Given the description of an element on the screen output the (x, y) to click on. 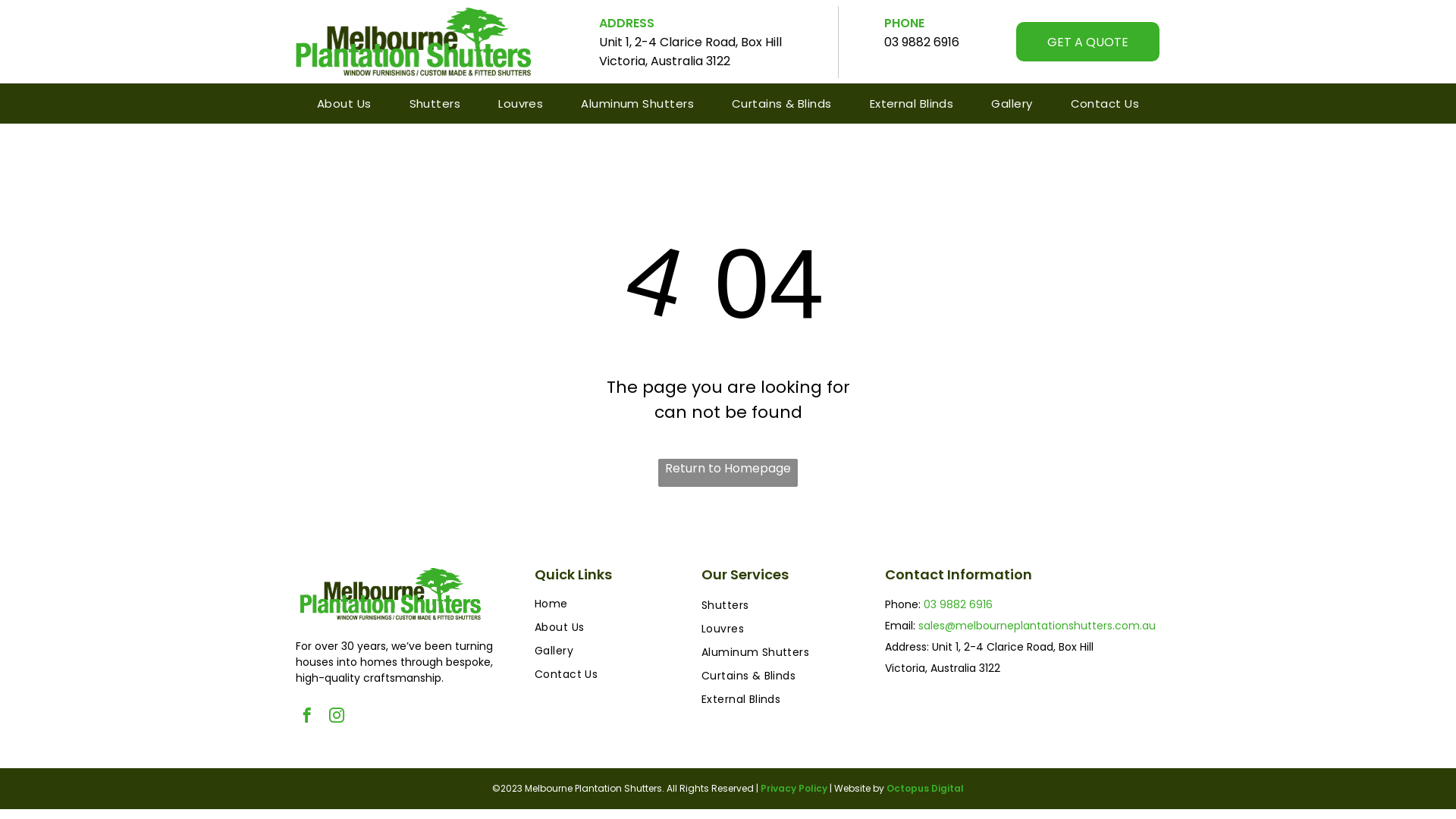
GET A QUOTE Element type: text (1087, 41)
Shutters Element type: text (435, 103)
Curtains & Blinds Element type: text (781, 103)
Curtains & Blinds Element type: text (777, 675)
Shutters Element type: text (777, 605)
About Us Element type: text (344, 103)
Gallery Element type: text (1011, 103)
Home Element type: text (585, 603)
03 9882 6916 Element type: text (921, 41)
Privacy Policy Element type: text (793, 787)
Gallery Element type: text (585, 650)
Aluminum Shutters Element type: text (636, 103)
Louvres Element type: text (520, 103)
03 9882 6916 Element type: text (957, 603)
External Blinds Element type: text (911, 103)
Aluminum Shutters Element type: text (777, 652)
Contact Us Element type: text (1104, 103)
sales@melbourneplantationshutters.com.au Element type: text (1036, 625)
Octopus Digital Element type: text (924, 787)
Contact Us Element type: text (585, 674)
Louvres Element type: text (777, 628)
External Blinds Element type: text (777, 699)
About Us Element type: text (585, 627)
Return to Homepage Element type: text (727, 472)
